Given the description of an element on the screen output the (x, y) to click on. 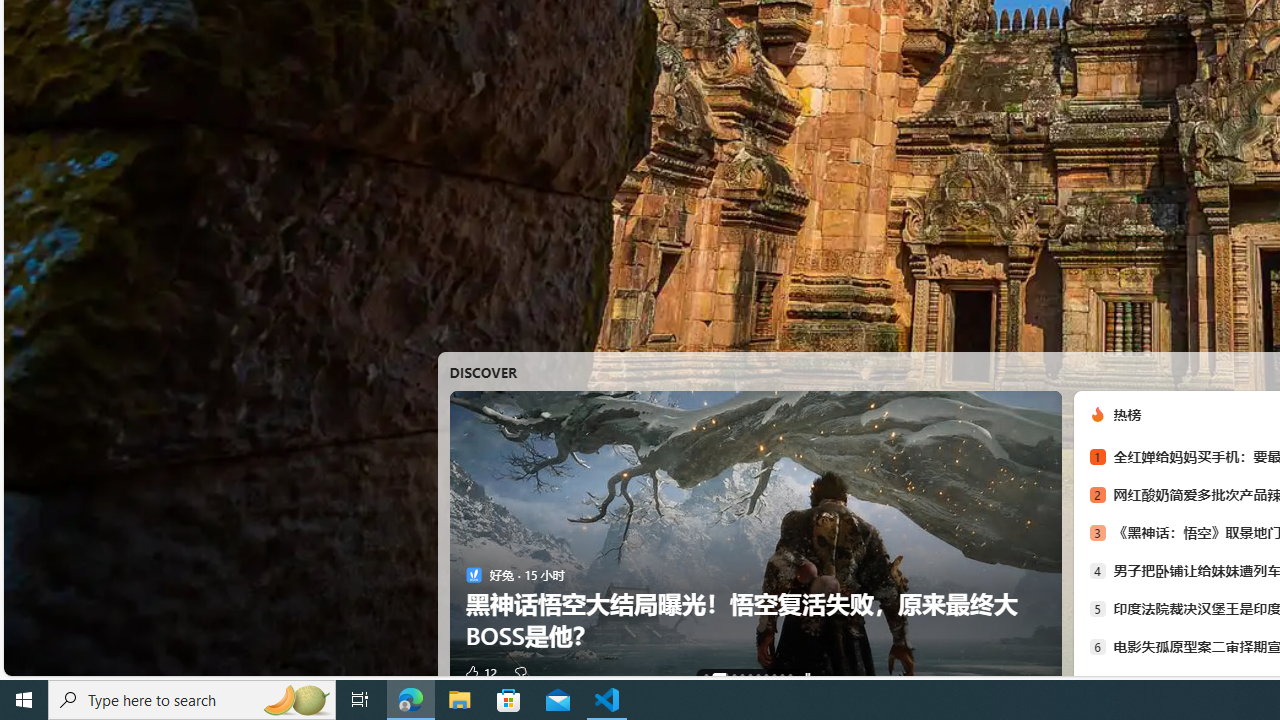
AutomationID: tab-7 (774, 675)
AutomationID: tab-1 (714, 675)
AutomationID: tab-3 (742, 675)
AutomationID: tab-4 (749, 675)
AutomationID: tab-6 (765, 675)
AutomationID: tab-5 (757, 675)
AutomationID: tab-0 (705, 675)
AutomationID: tab-9 (789, 675)
AutomationID: tab-2 (728, 675)
